Given the description of an element on the screen output the (x, y) to click on. 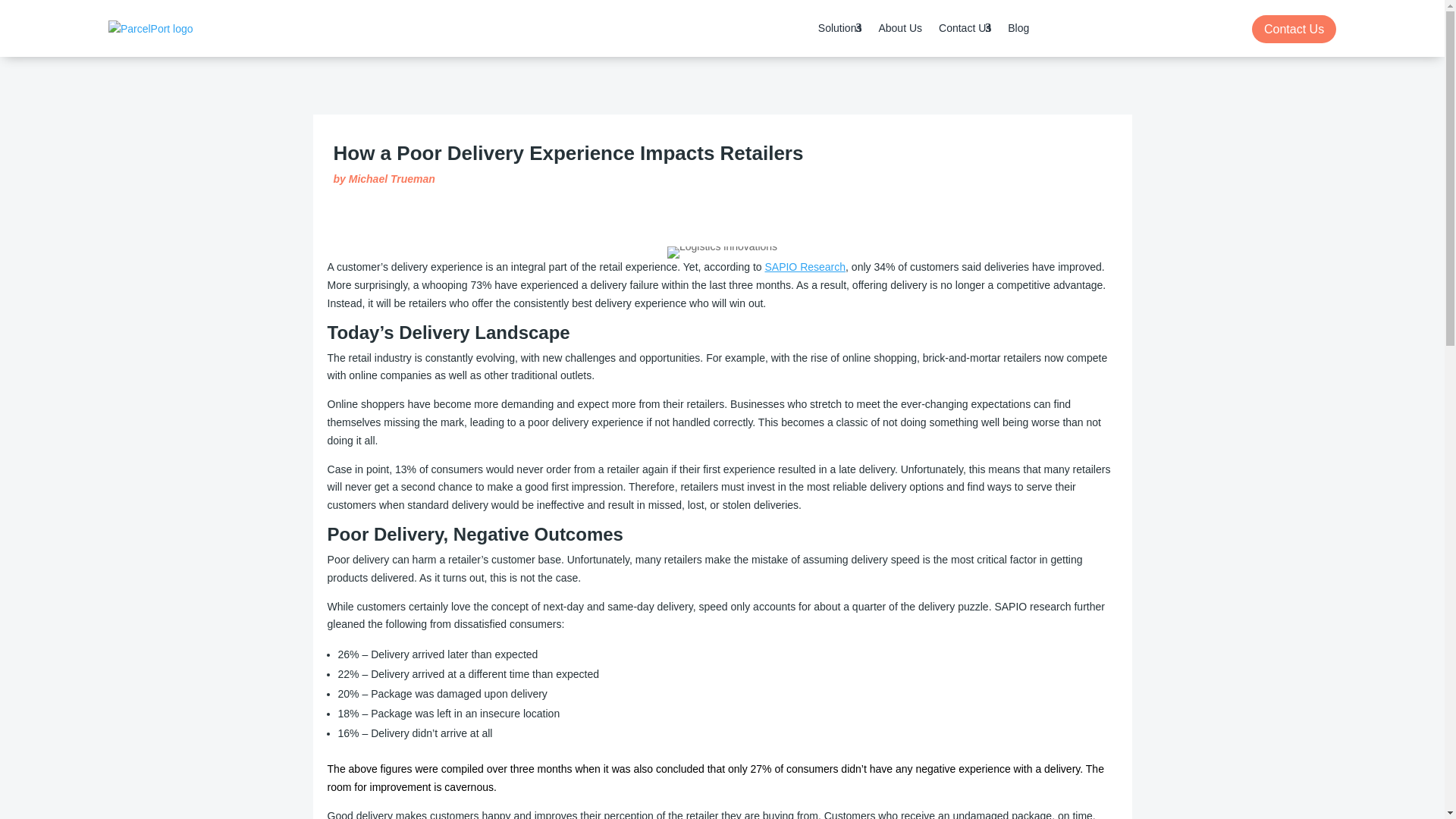
About Us (899, 27)
SAPIO Research (804, 266)
Contact Us (965, 27)
Solutions (839, 27)
Logistics innovations (721, 252)
Michael Trueman (392, 178)
Posts by Michael Trueman (392, 178)
Contact Us (1294, 29)
